Given the description of an element on the screen output the (x, y) to click on. 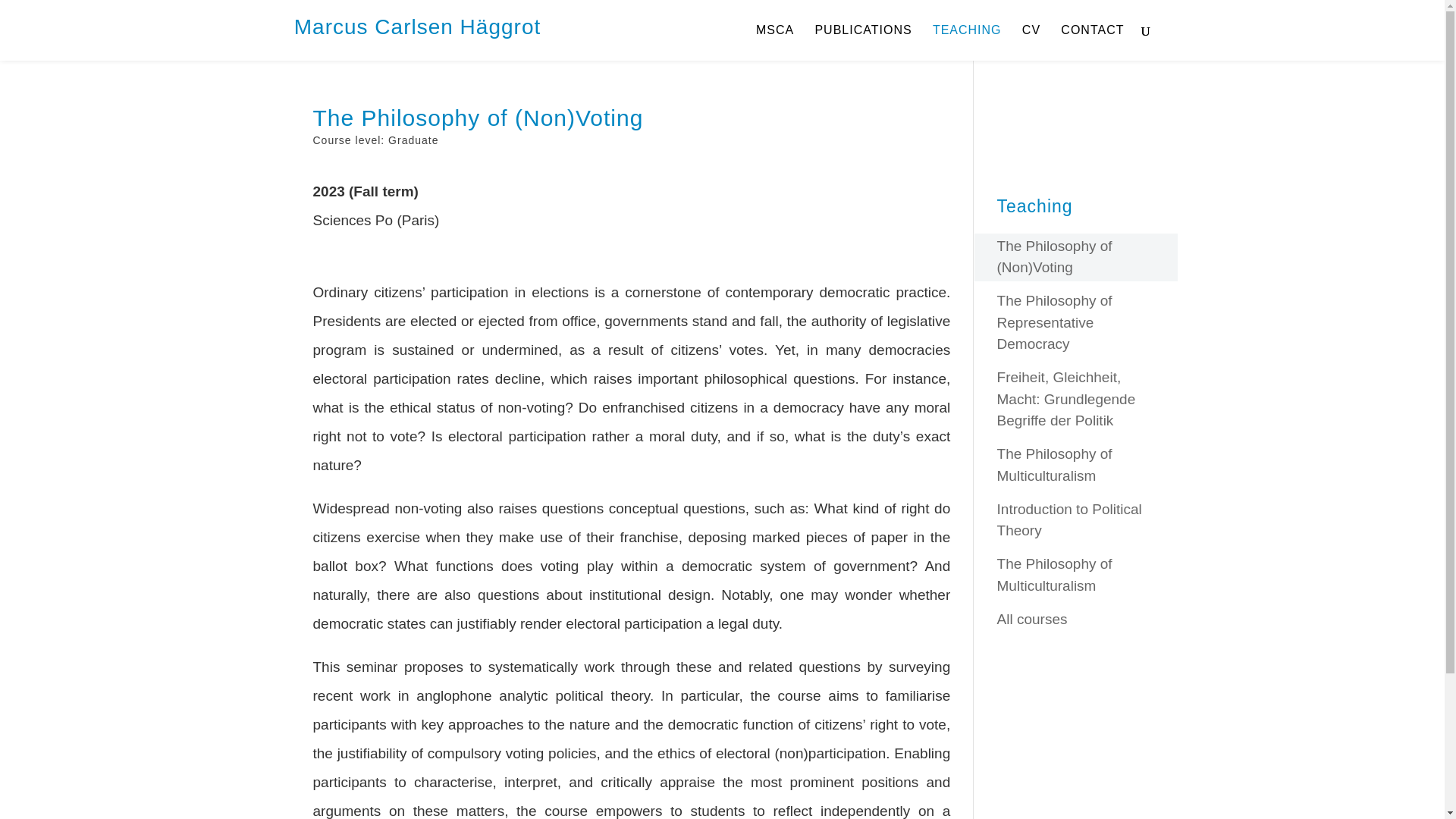
The Philosophy of Multiculturalism (1054, 574)
Introduction to Political Theory (1069, 519)
All courses (1032, 618)
CONTACT (1092, 42)
The Philosophy of Multiculturalism (1054, 464)
TEACHING (967, 42)
The Philosophy of Representative Democracy (1054, 322)
PUBLICATIONS (862, 42)
MSCA (774, 42)
